Given the description of an element on the screen output the (x, y) to click on. 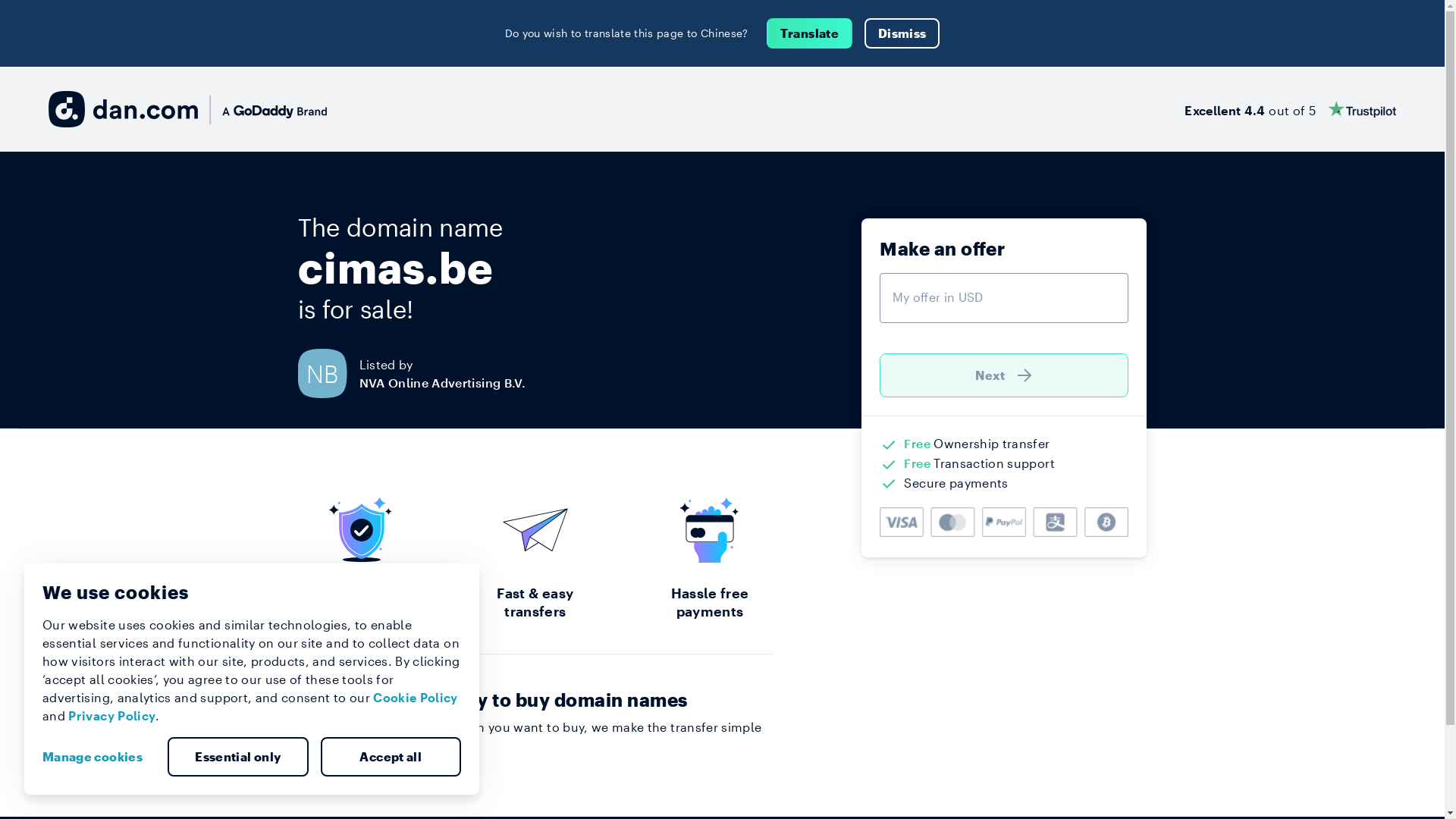
Excellent 4.4 out of 5 Element type: text (1290, 109)
Cookie Policy Element type: text (415, 697)
Manage cookies Element type: text (98, 756)
Privacy Policy Element type: text (111, 715)
Next
) Element type: text (1003, 375)
Essential only Element type: text (237, 756)
Translate Element type: text (809, 33)
Dismiss Element type: text (901, 33)
Accept all Element type: text (390, 756)
